Given the description of an element on the screen output the (x, y) to click on. 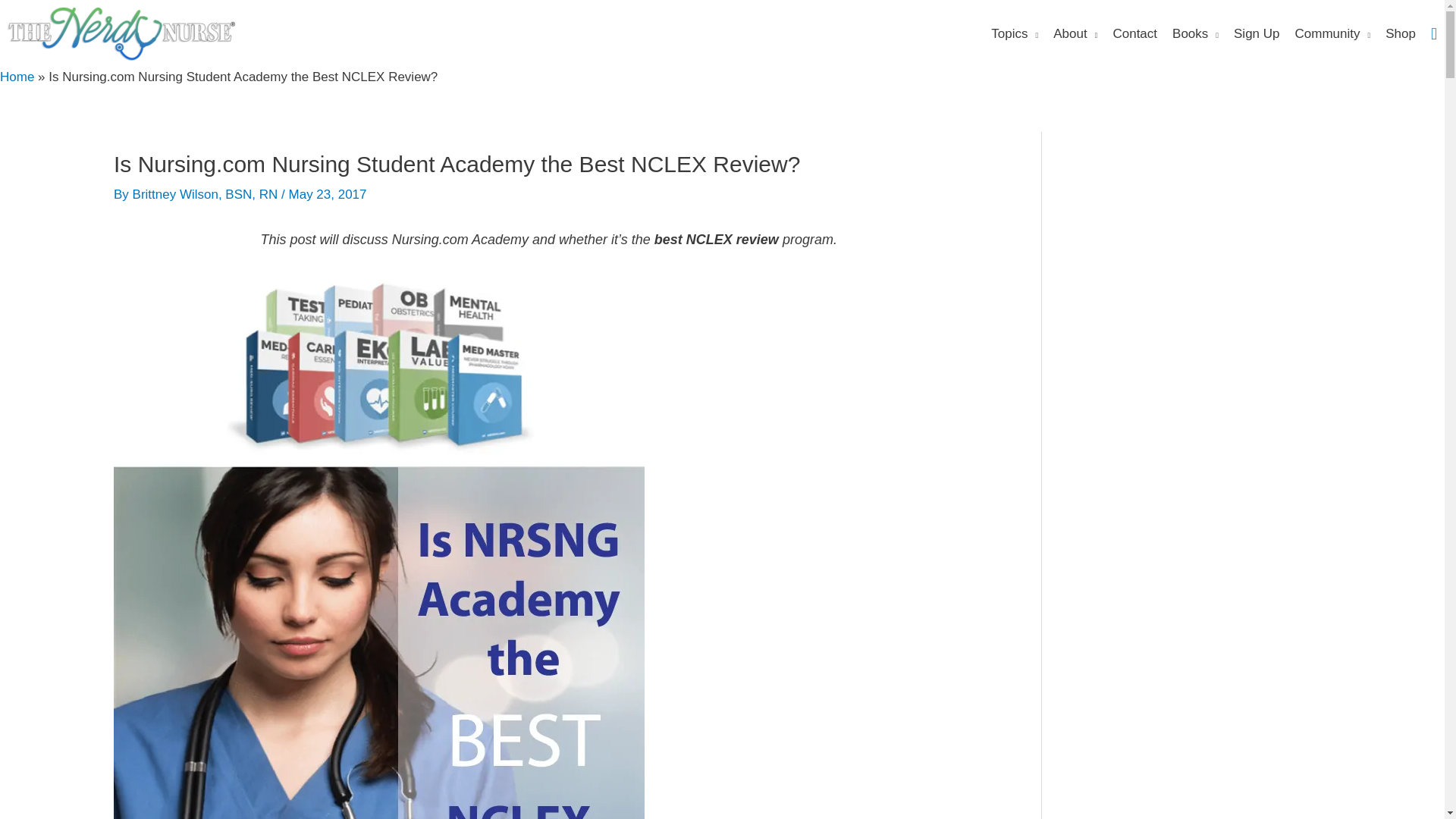
View all posts by Brittney Wilson, BSN, RN (207, 194)
Topics (1014, 33)
About (1075, 33)
